Given the description of an element on the screen output the (x, y) to click on. 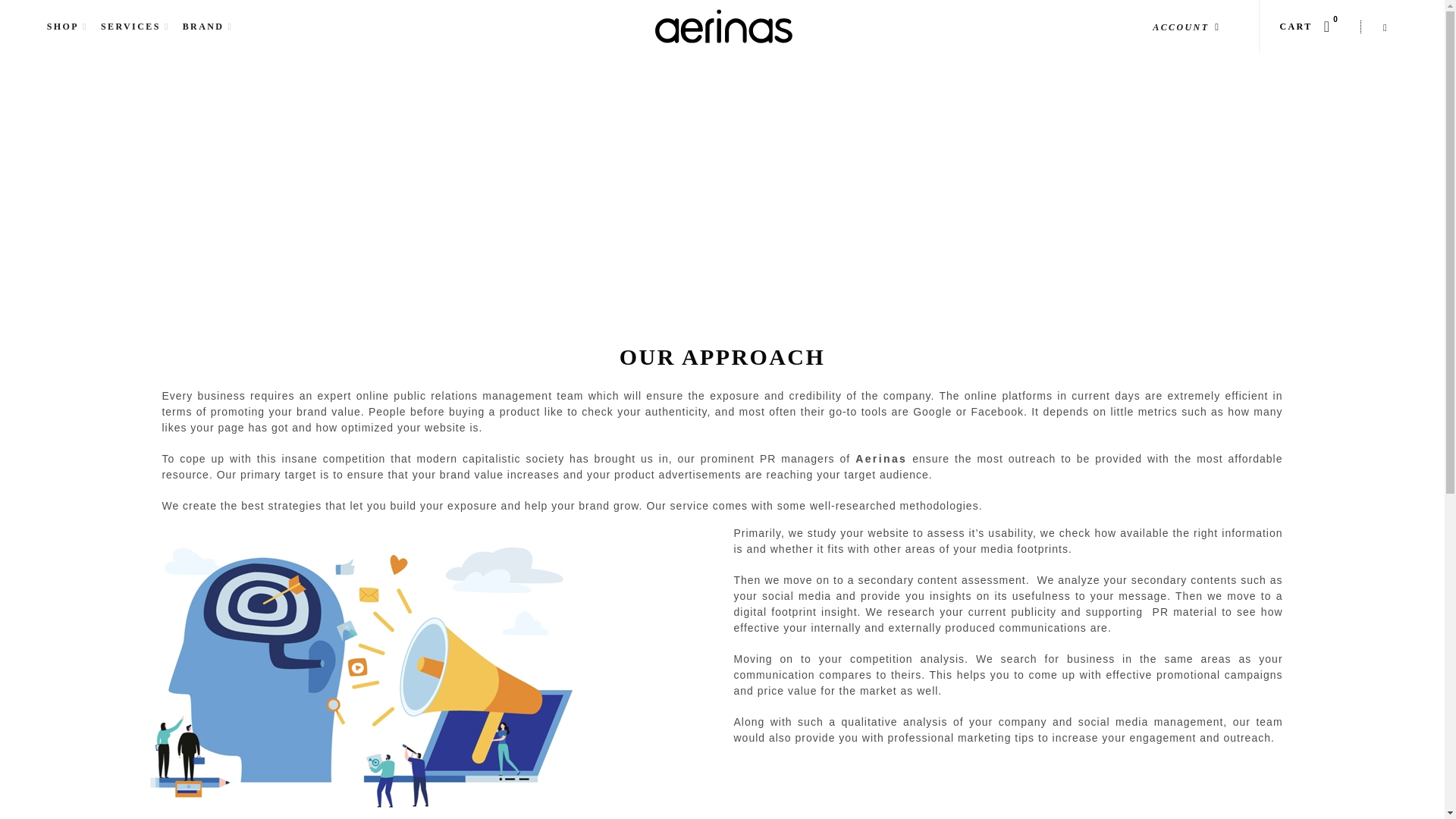
SERVICES (130, 26)
BRAND (203, 26)
SHOP (62, 26)
